Given the description of an element on the screen output the (x, y) to click on. 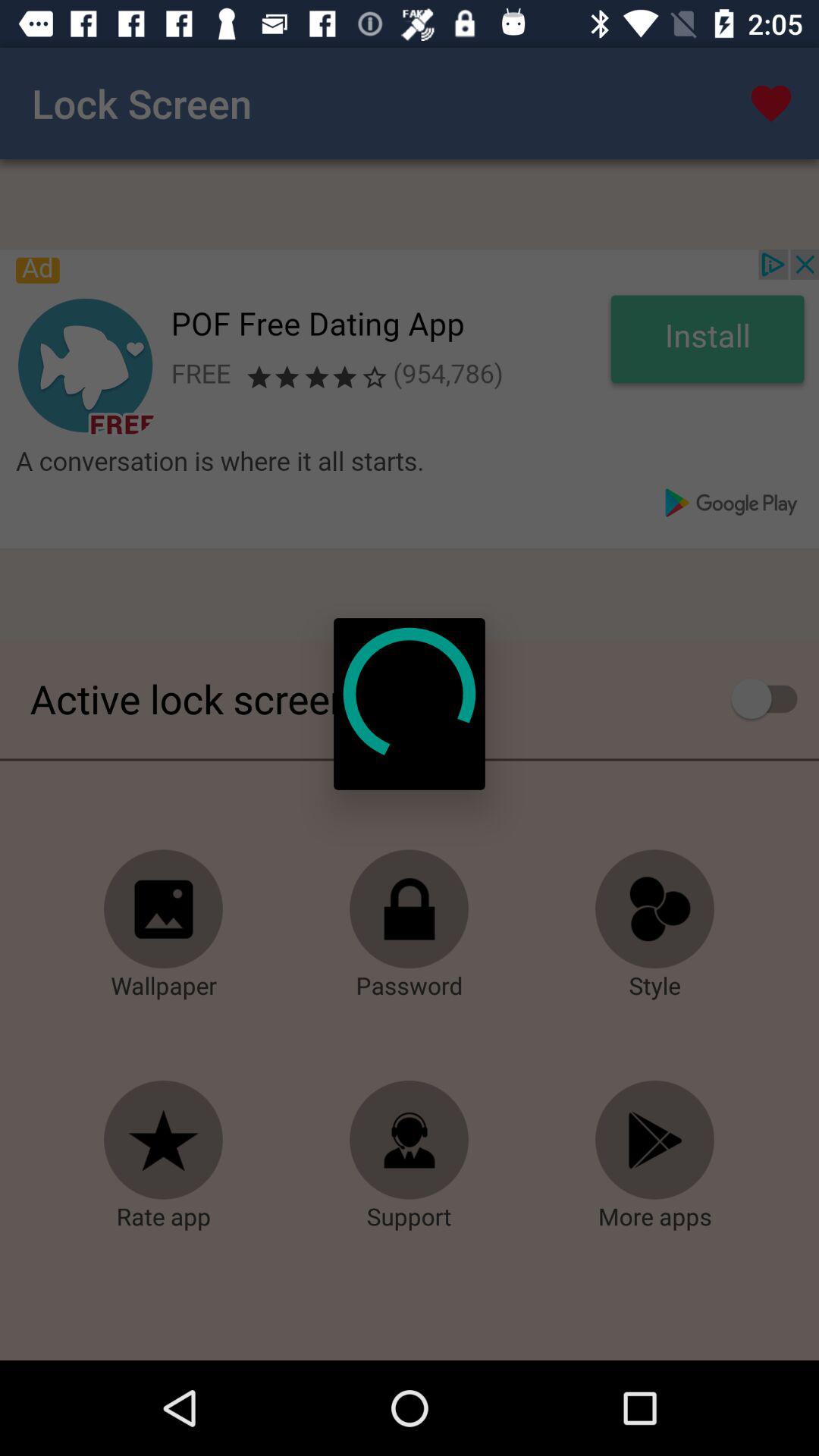
changes wallpaper on lock screen (163, 909)
